Given the description of an element on the screen output the (x, y) to click on. 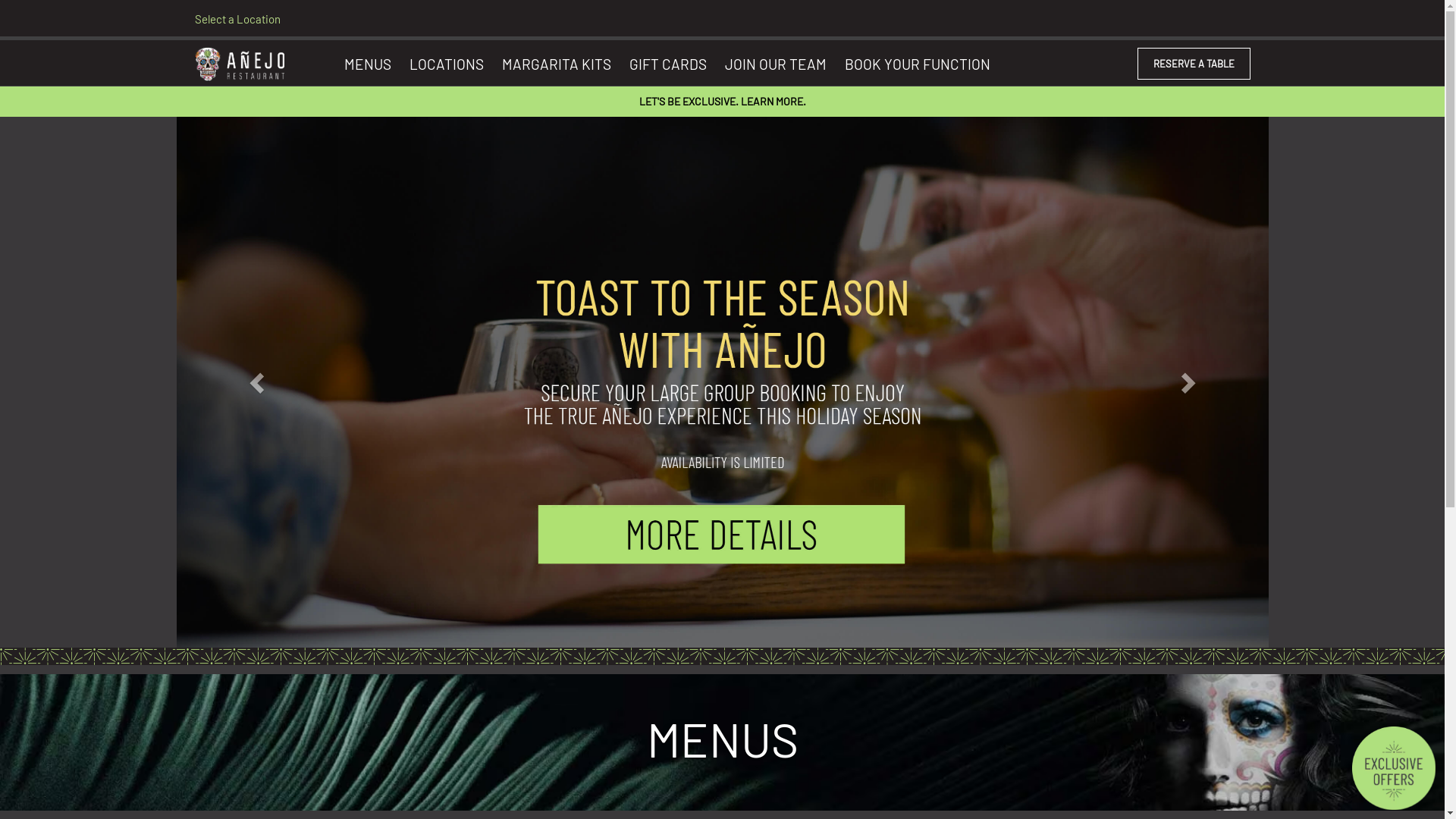
GIFT CARDS Element type: text (667, 62)
MARGARITA KITS Element type: text (556, 62)
LOCATIONS Element type: text (446, 62)
LET'S BE EXCLUSIVE. LEARN MORE. Element type: text (722, 101)
BOOK YOUR FUNCTION Element type: text (917, 62)
Holiday Functions 2023 Element type: hover (721, 381)
MENUS Element type: text (367, 62)
Previous Element type: text (257, 381)
MENUS Element type: text (722, 725)
JOIN OUR TEAM Element type: text (775, 62)
Next Element type: text (1185, 381)
Select a Location Element type: text (238, 18)
RESERVE A TABLE Element type: text (1193, 63)
